Given the description of an element on the screen output the (x, y) to click on. 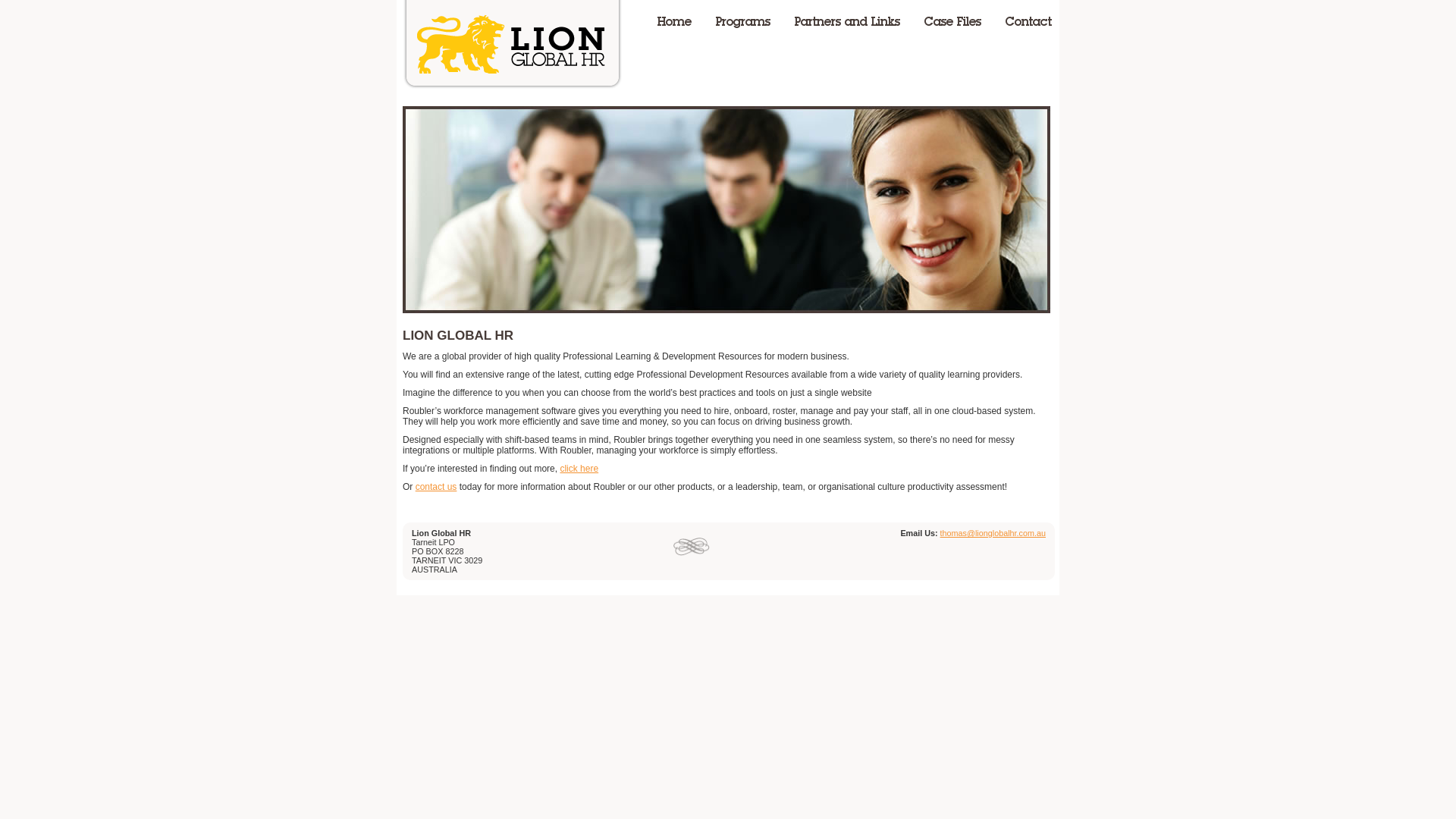
contact us Element type: text (436, 486)
click here Element type: text (578, 468)
thomas@lionglobalhr.com.au Element type: text (992, 532)
